Given the description of an element on the screen output the (x, y) to click on. 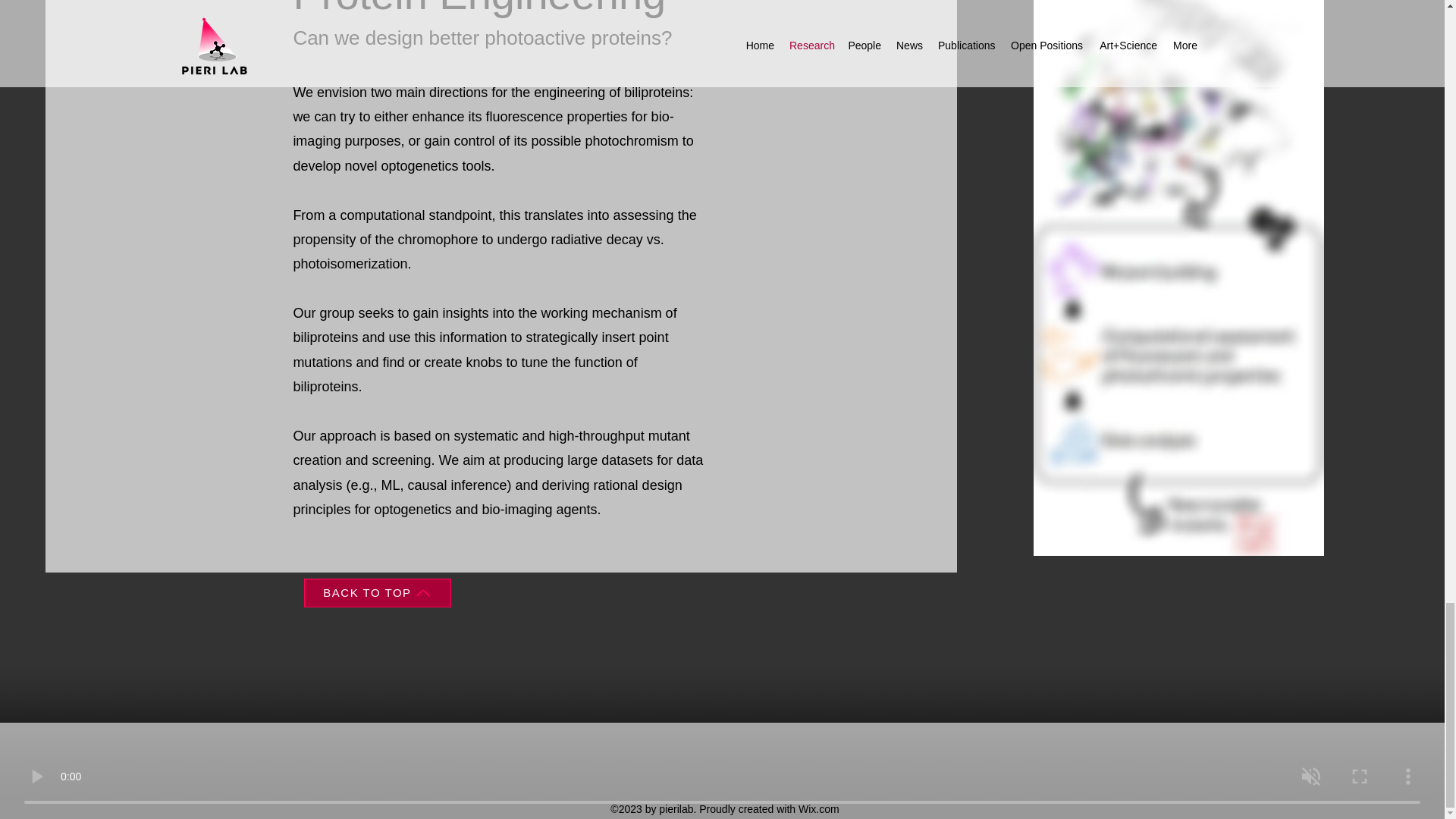
BACK TO TOP (375, 592)
